Given the description of an element on the screen output the (x, y) to click on. 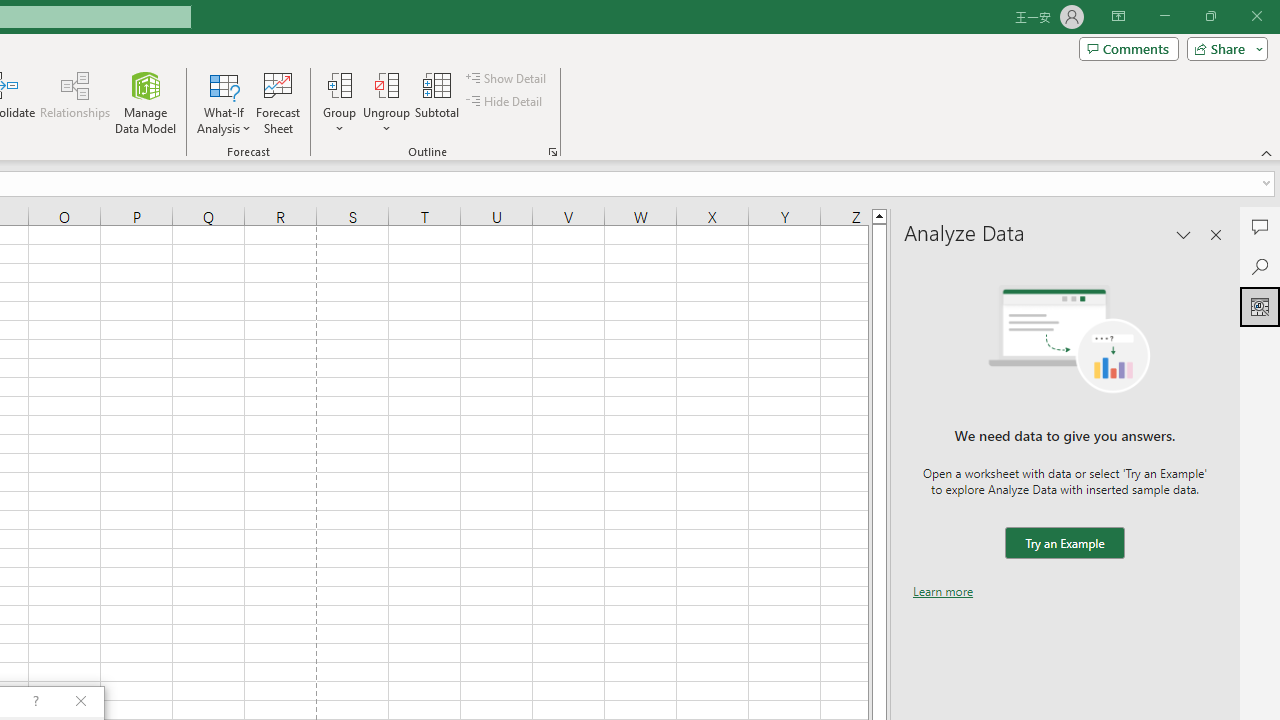
Learn more (943, 591)
Relationships (75, 102)
What-If Analysis (223, 102)
Hide Detail (505, 101)
